Given the description of an element on the screen output the (x, y) to click on. 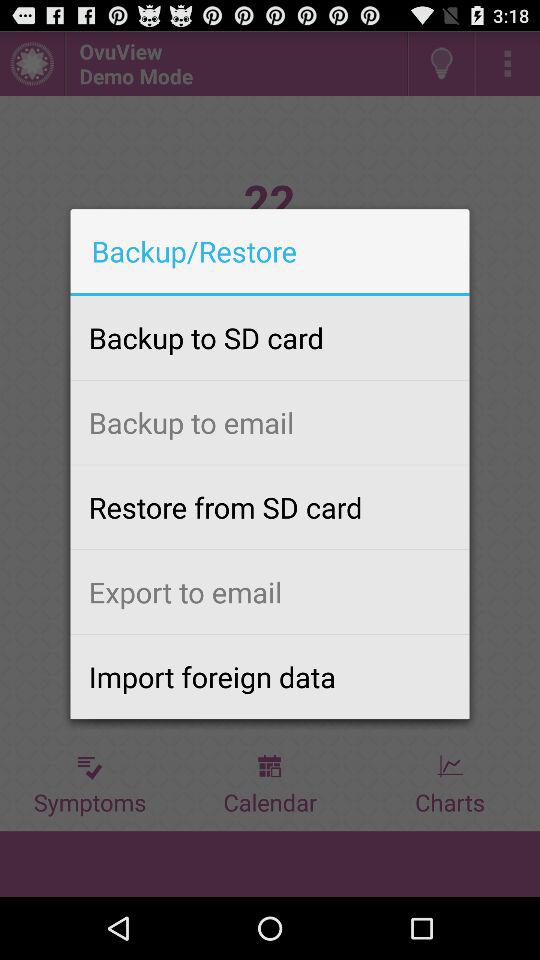
flip to the restore from sd app (269, 507)
